Given the description of an element on the screen output the (x, y) to click on. 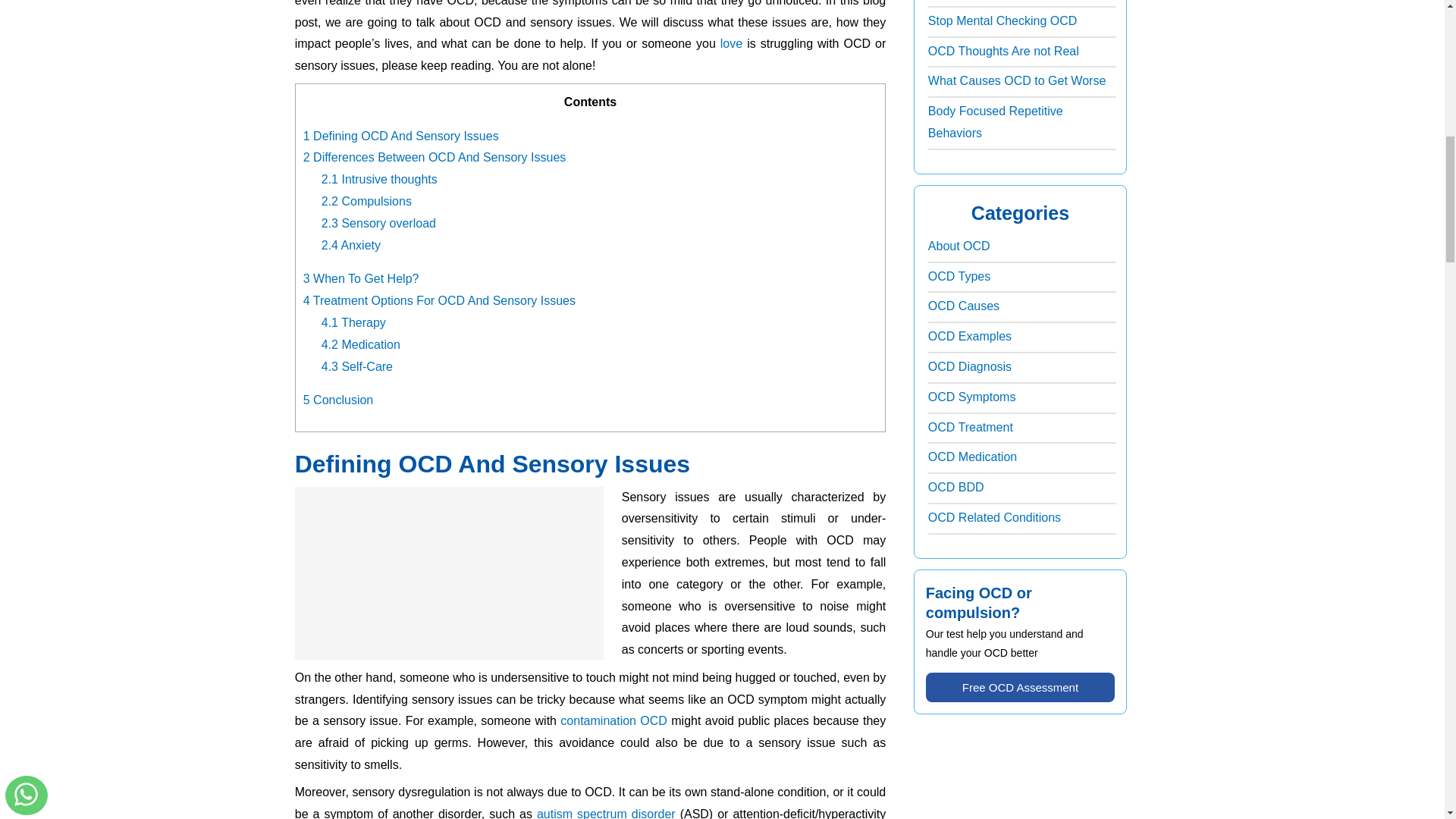
love (731, 42)
contamination ocd (613, 720)
autism spectrum disorder (606, 813)
